Given the description of an element on the screen output the (x, y) to click on. 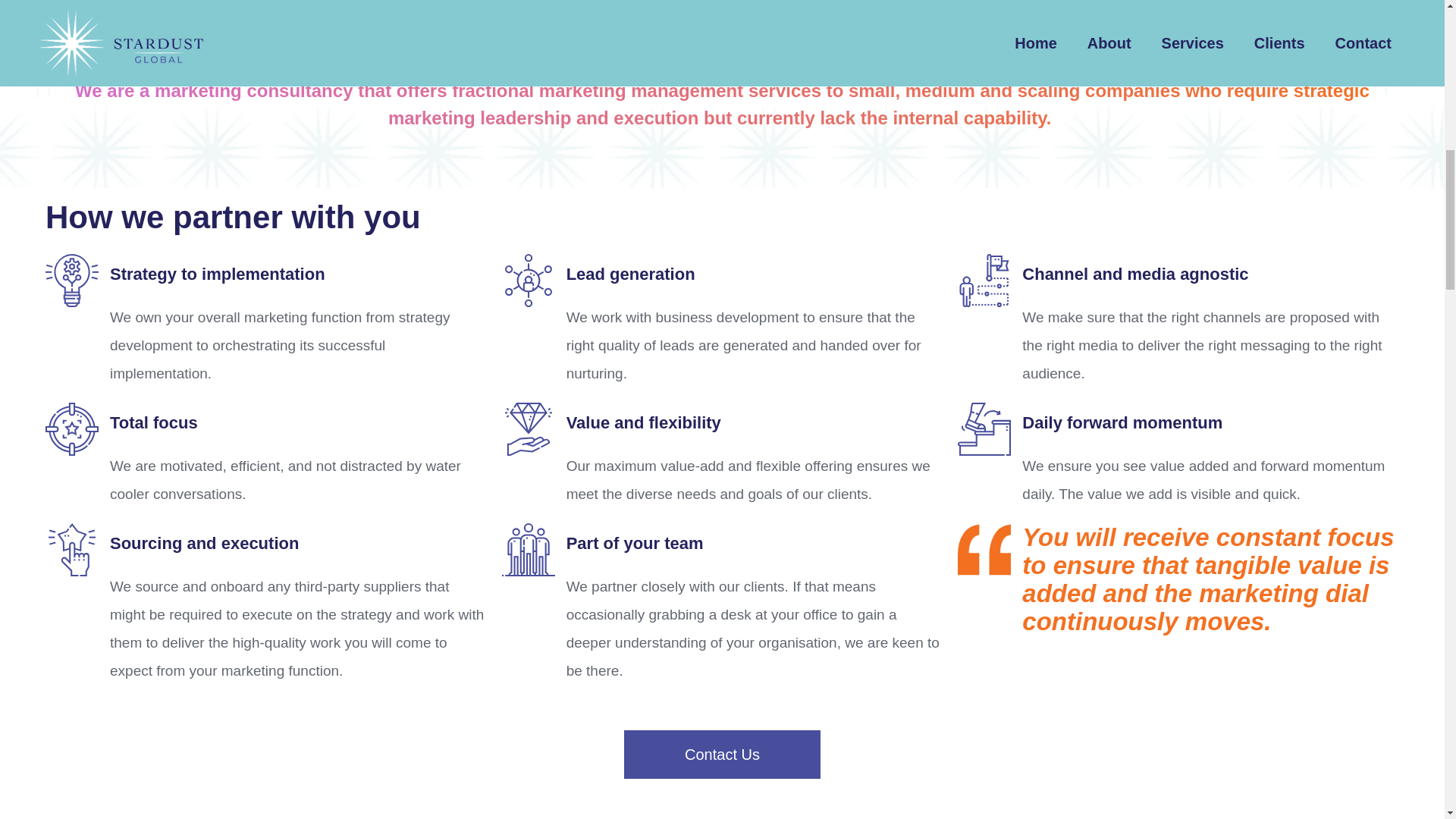
Contact Us (722, 754)
